Given the description of an element on the screen output the (x, y) to click on. 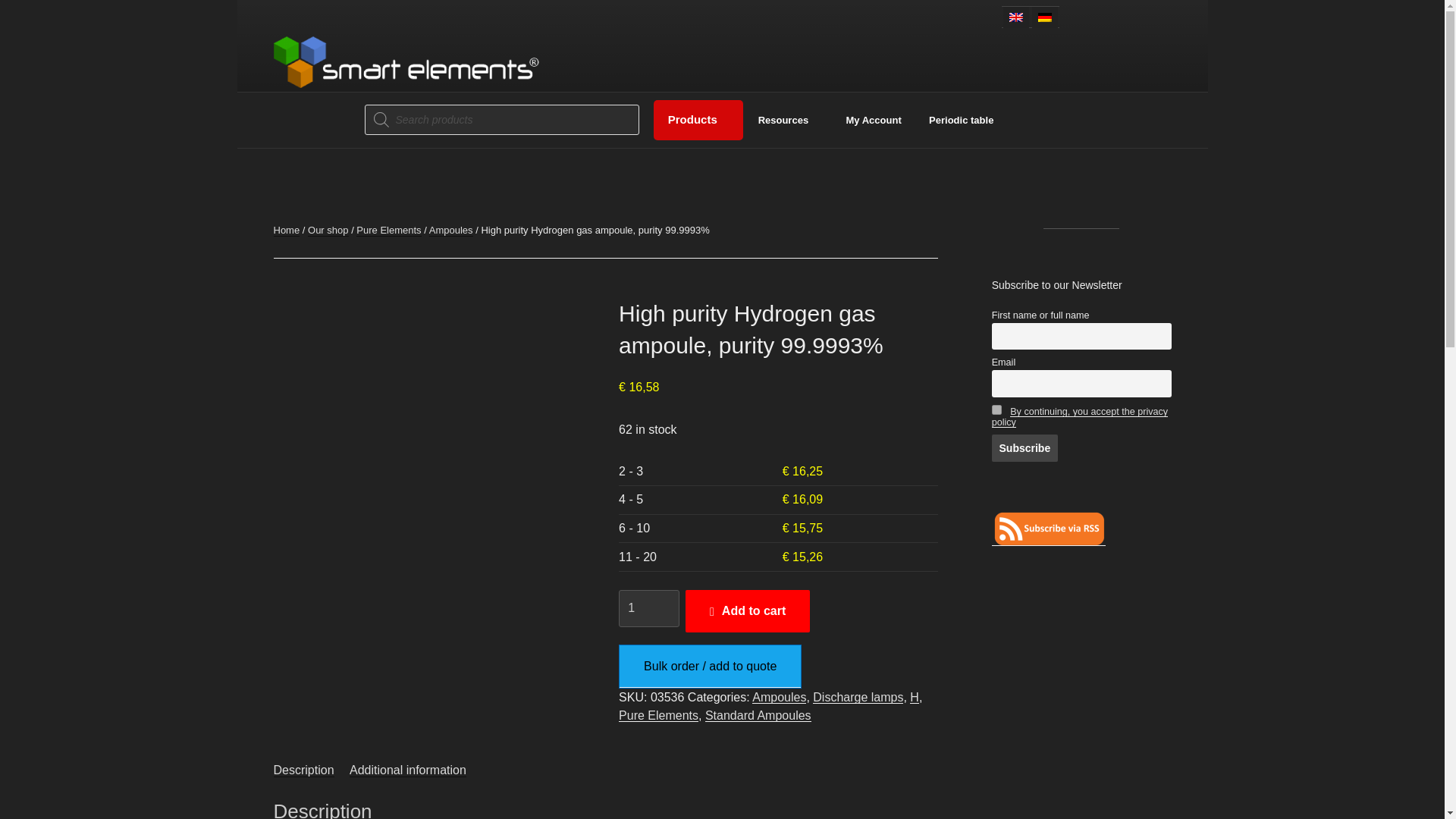
Our shop (327, 229)
My Account (873, 120)
Periodic table (961, 120)
1 (648, 607)
on (996, 409)
Pure Elements (388, 229)
Products (697, 119)
Resources (787, 120)
Ampoules (451, 229)
Subscribe (1024, 447)
